Given the description of an element on the screen output the (x, y) to click on. 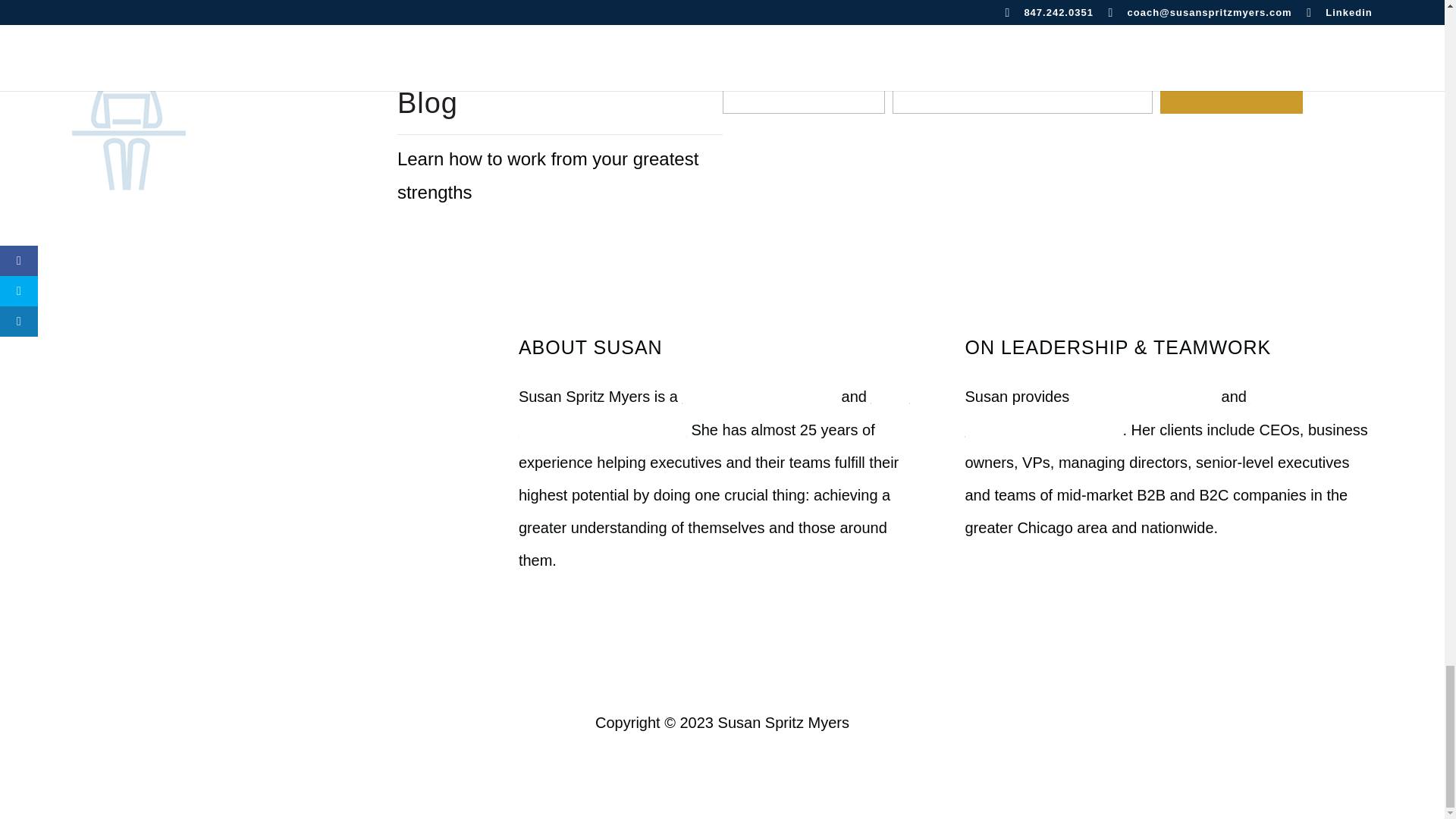
Leadership Coaching (1145, 396)
Kolbe Master Team Consultant. (714, 412)
Follow on X (737, 668)
Team Development Coaching (1125, 412)
SIGN UP! (1231, 84)
SIGN UP! (1231, 84)
Master Certified Coach (760, 396)
Follow on LinkedIn (706, 668)
